Given the description of an element on the screen output the (x, y) to click on. 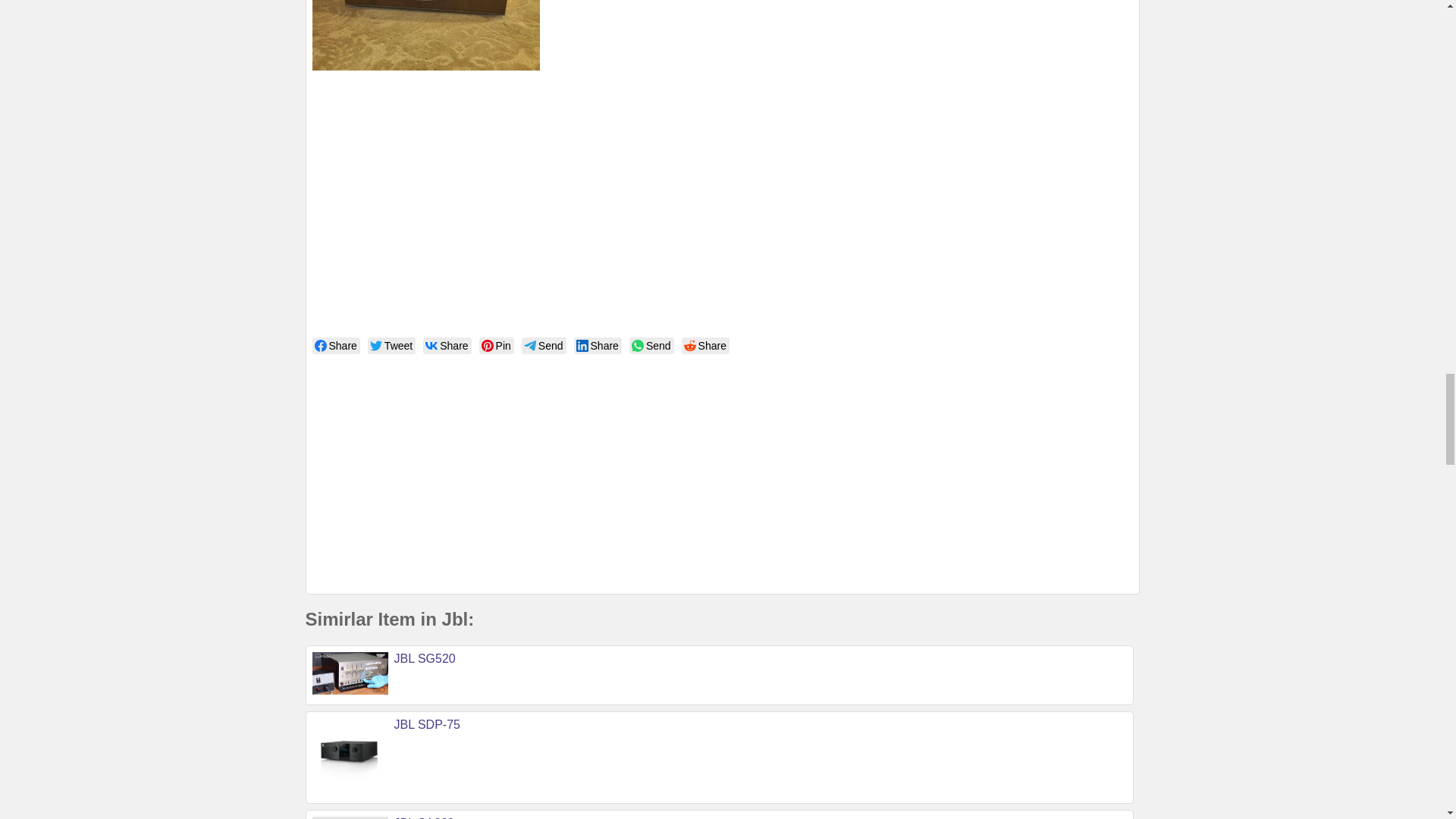
JBL 1500 Array (426, 35)
JBL SG520 (424, 658)
JBL SDP-75 (427, 724)
JBL SA660 (424, 817)
